Given the description of an element on the screen output the (x, y) to click on. 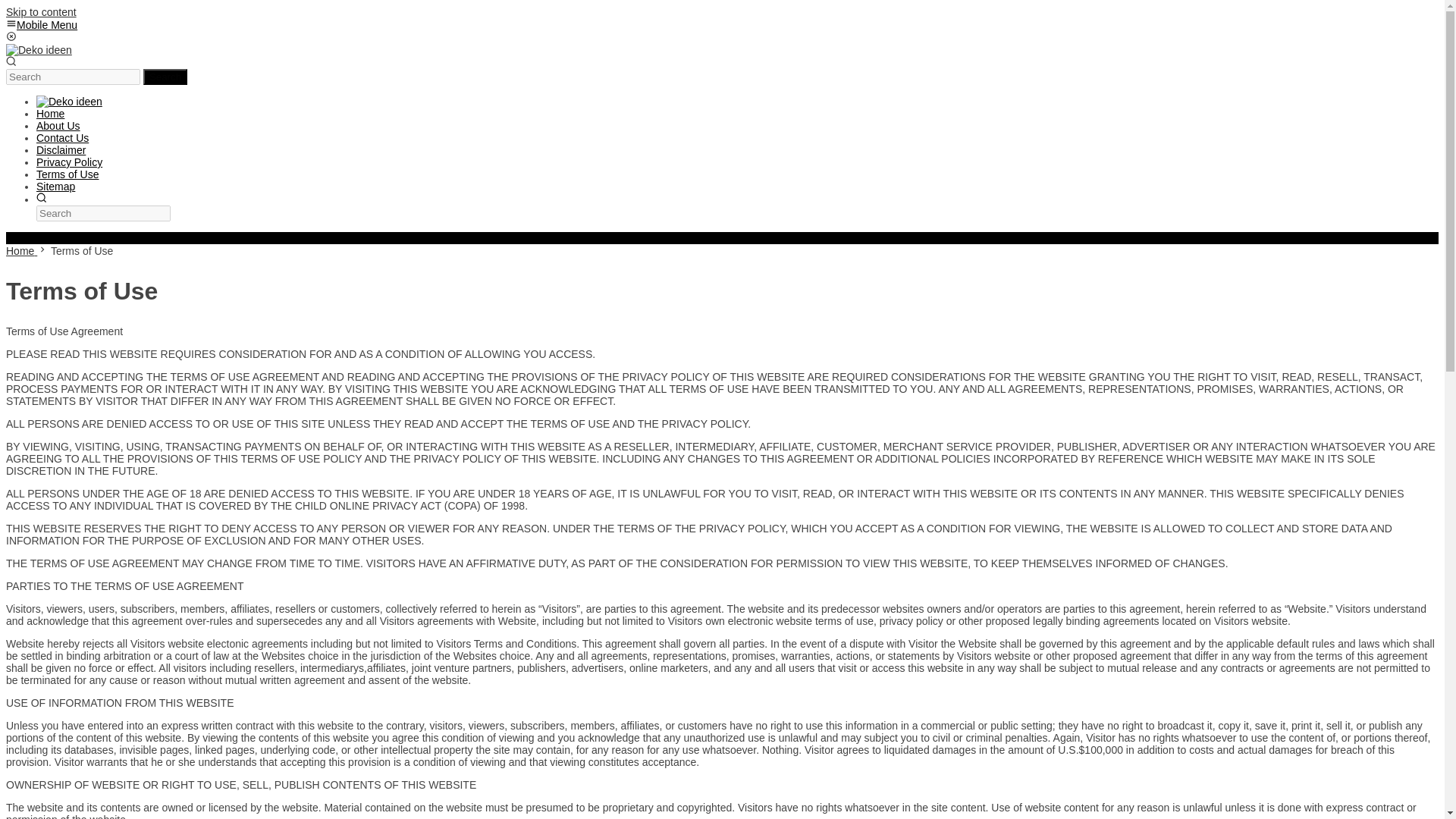
Search (164, 76)
Mobile Menu (41, 24)
Privacy Policy (68, 162)
Deko ideen (38, 50)
Mobile Menu (41, 24)
Contact Us (62, 137)
Disclaimer (60, 150)
About Us (58, 125)
Home (21, 250)
Home (50, 113)
Deko ideen (68, 101)
Terms of Use (67, 174)
Sitemap (55, 186)
Skip to content (41, 11)
